Given the description of an element on the screen output the (x, y) to click on. 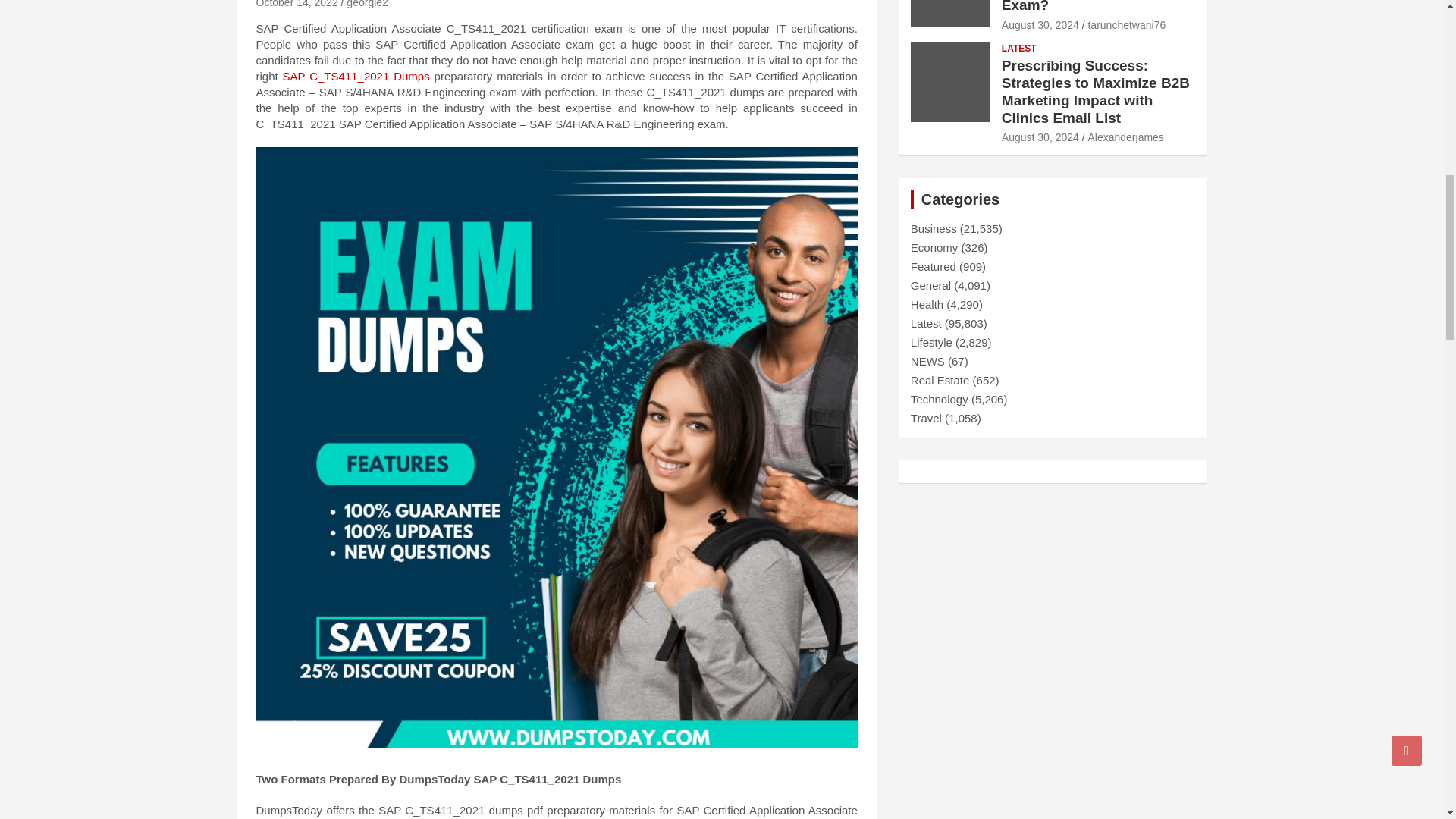
georgie2 (367, 4)
What is the Importance of Dictation Words in PTE Exam? (1039, 24)
October 14, 2022 (296, 4)
